Given the description of an element on the screen output the (x, y) to click on. 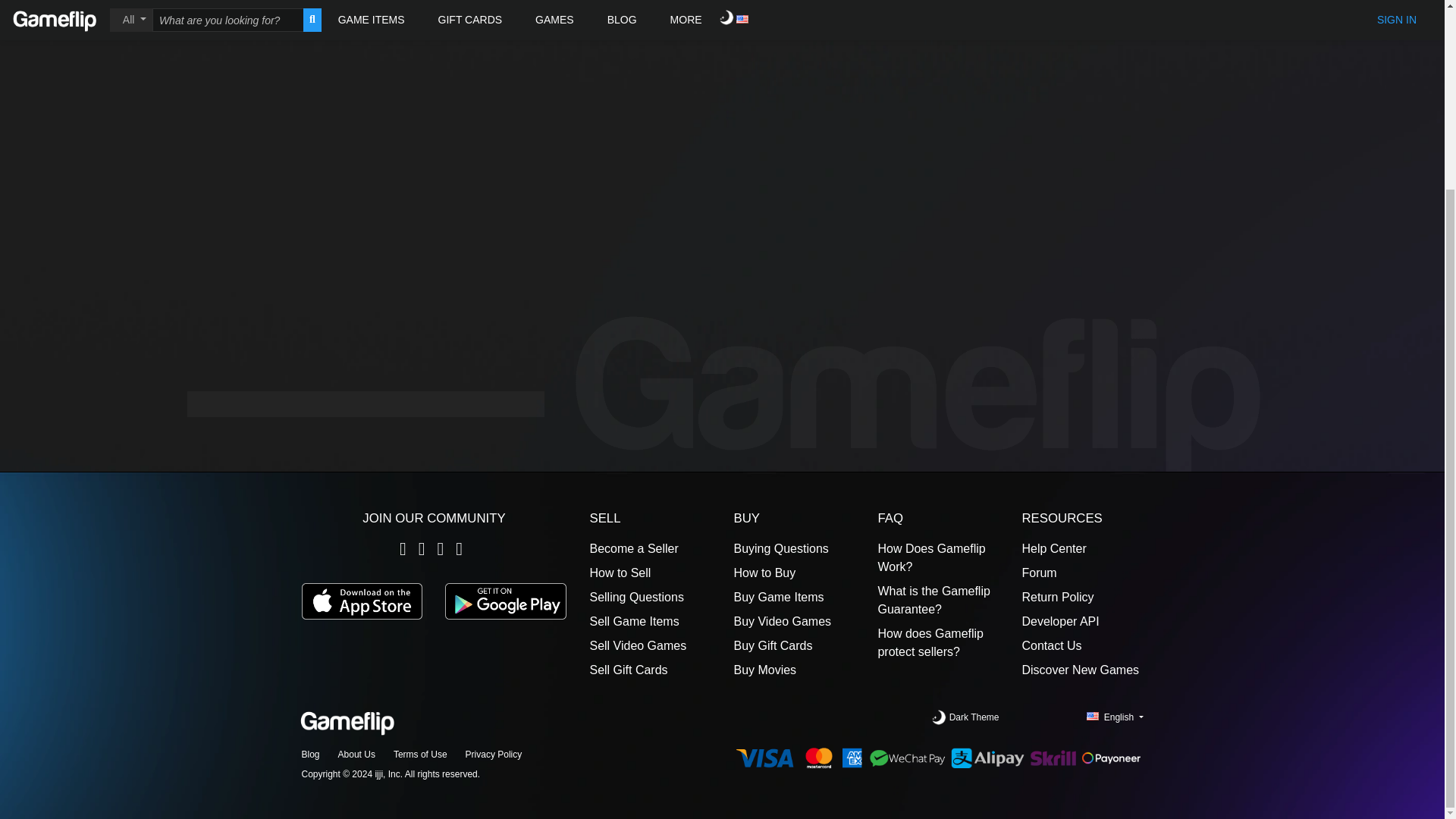
Language (1114, 716)
